Given the description of an element on the screen output the (x, y) to click on. 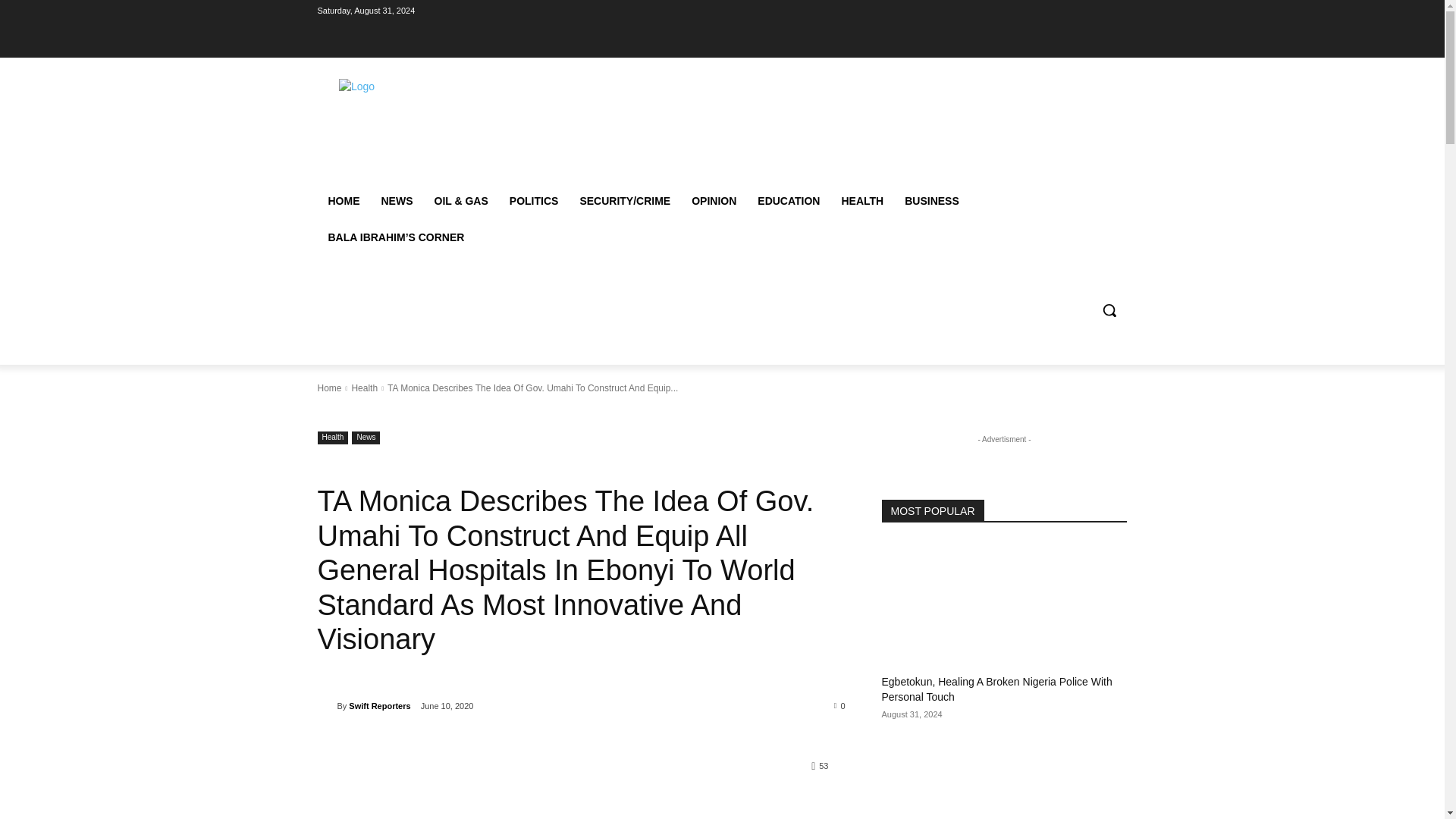
Home (328, 388)
HOME (343, 200)
POLITICS (534, 200)
Health (363, 388)
HEALTH (861, 200)
OPINION (713, 200)
EDUCATION (787, 200)
BUSINESS (931, 200)
News (366, 437)
Swift Reporters (326, 705)
